Given the description of an element on the screen output the (x, y) to click on. 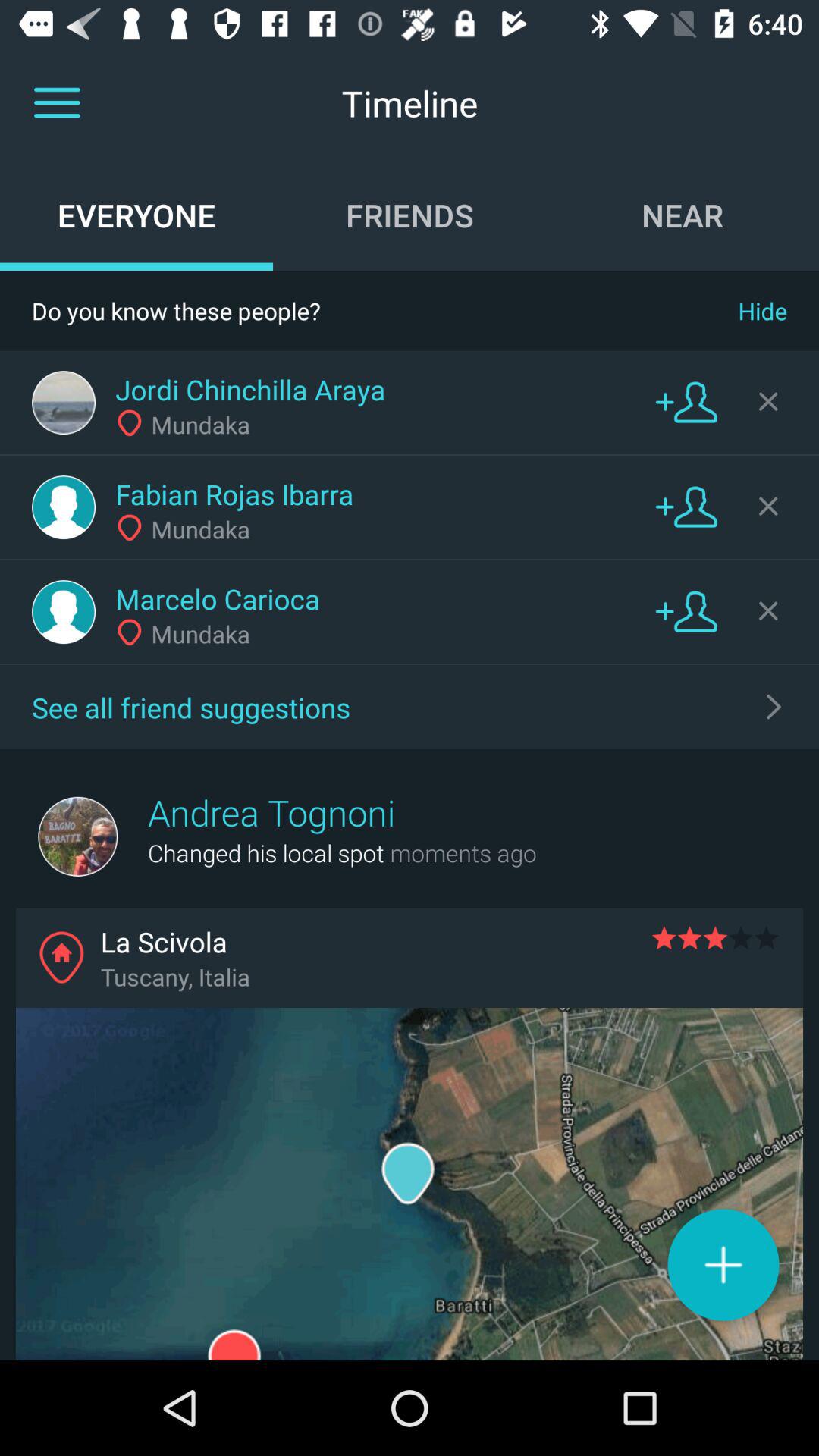
choose the icon above do you know icon (409, 214)
